Given the description of an element on the screen output the (x, y) to click on. 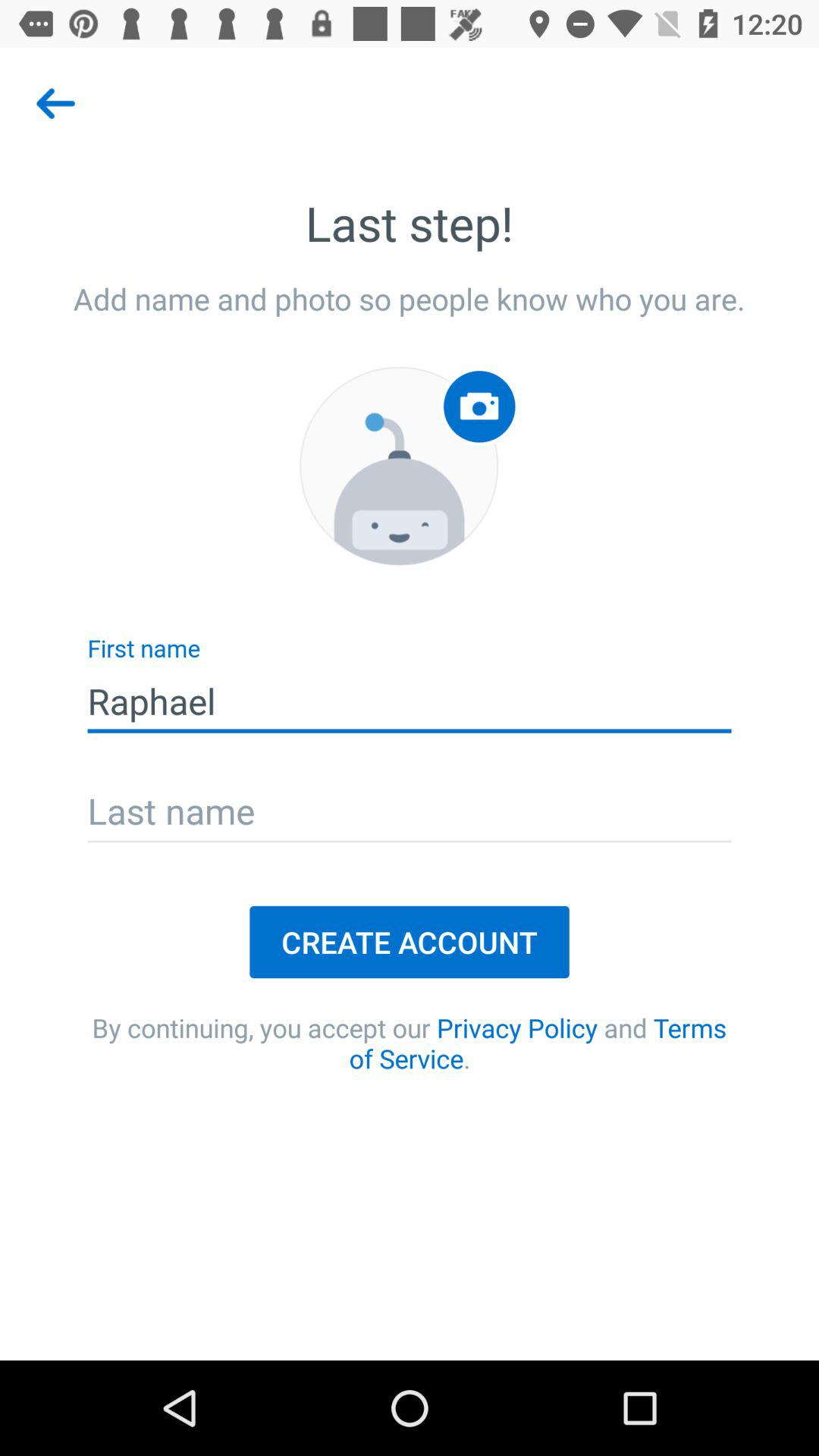
press icon below add name and item (398, 465)
